Given the description of an element on the screen output the (x, y) to click on. 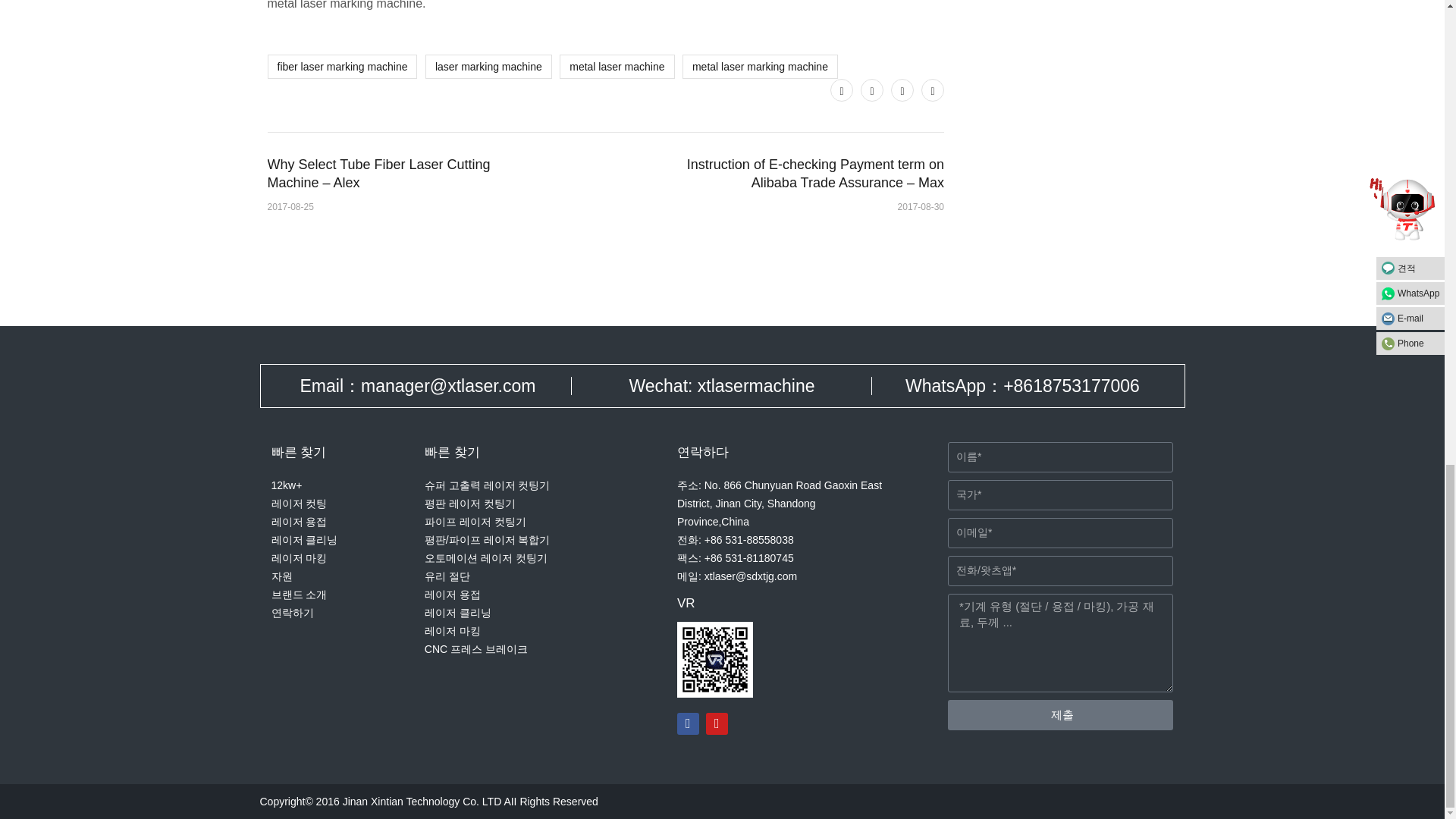
Twitter (841, 89)
LinkedIn (932, 89)
Pinterest (902, 89)
Facebook (871, 89)
